Given the description of an element on the screen output the (x, y) to click on. 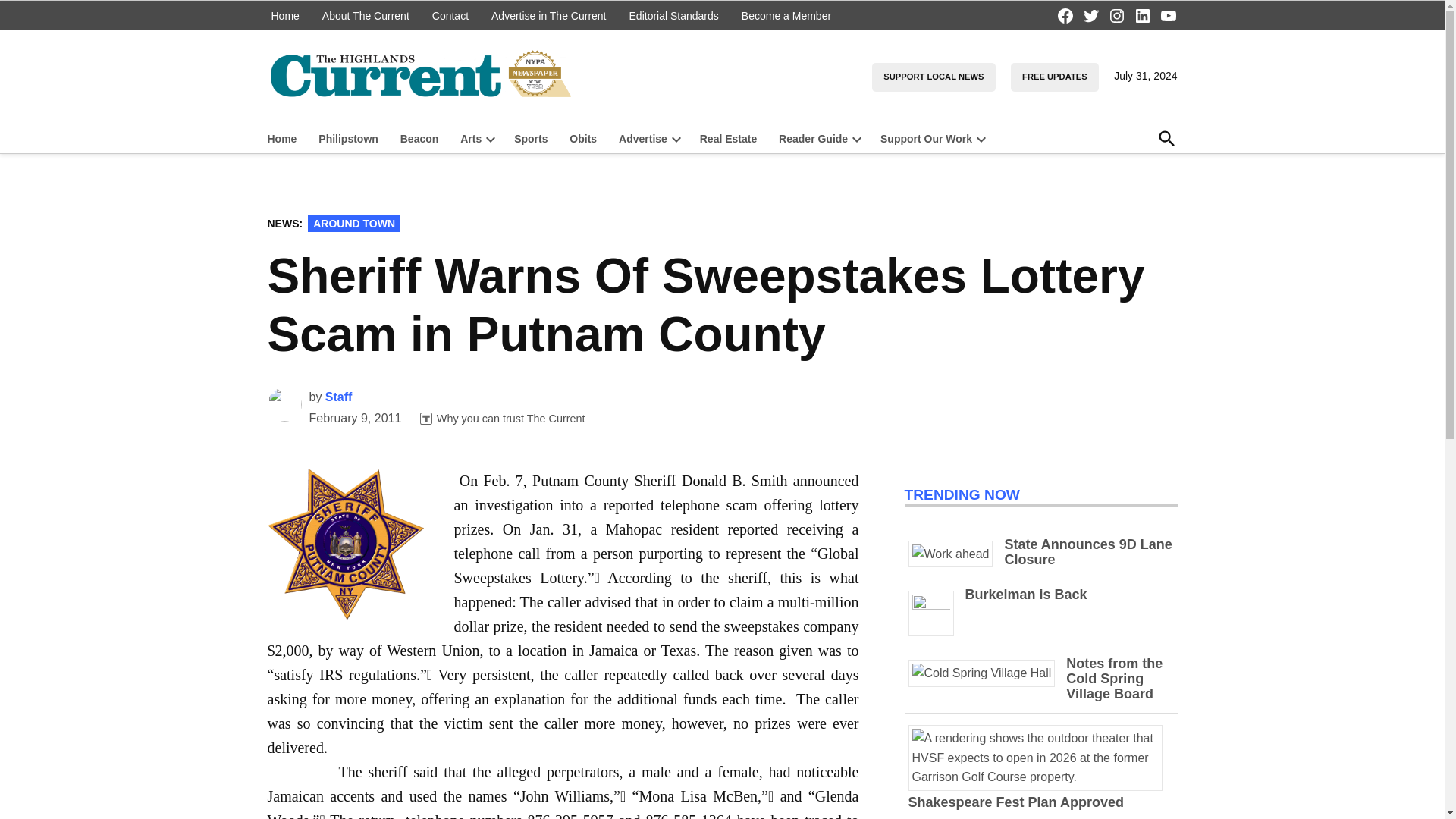
Shakespeare Fest Plan Approved (1016, 801)
Burkelman is Back (936, 604)
Shakespeare Fest Plan Approved (1040, 776)
Notes from the Cold Spring Village Board (987, 672)
State Announces 9D Lane Closure (1088, 552)
State Announces 9D Lane Closure (956, 553)
Burkelman is Back (1024, 594)
Notes from the Cold Spring Village Board (1113, 678)
